Given the description of an element on the screen output the (x, y) to click on. 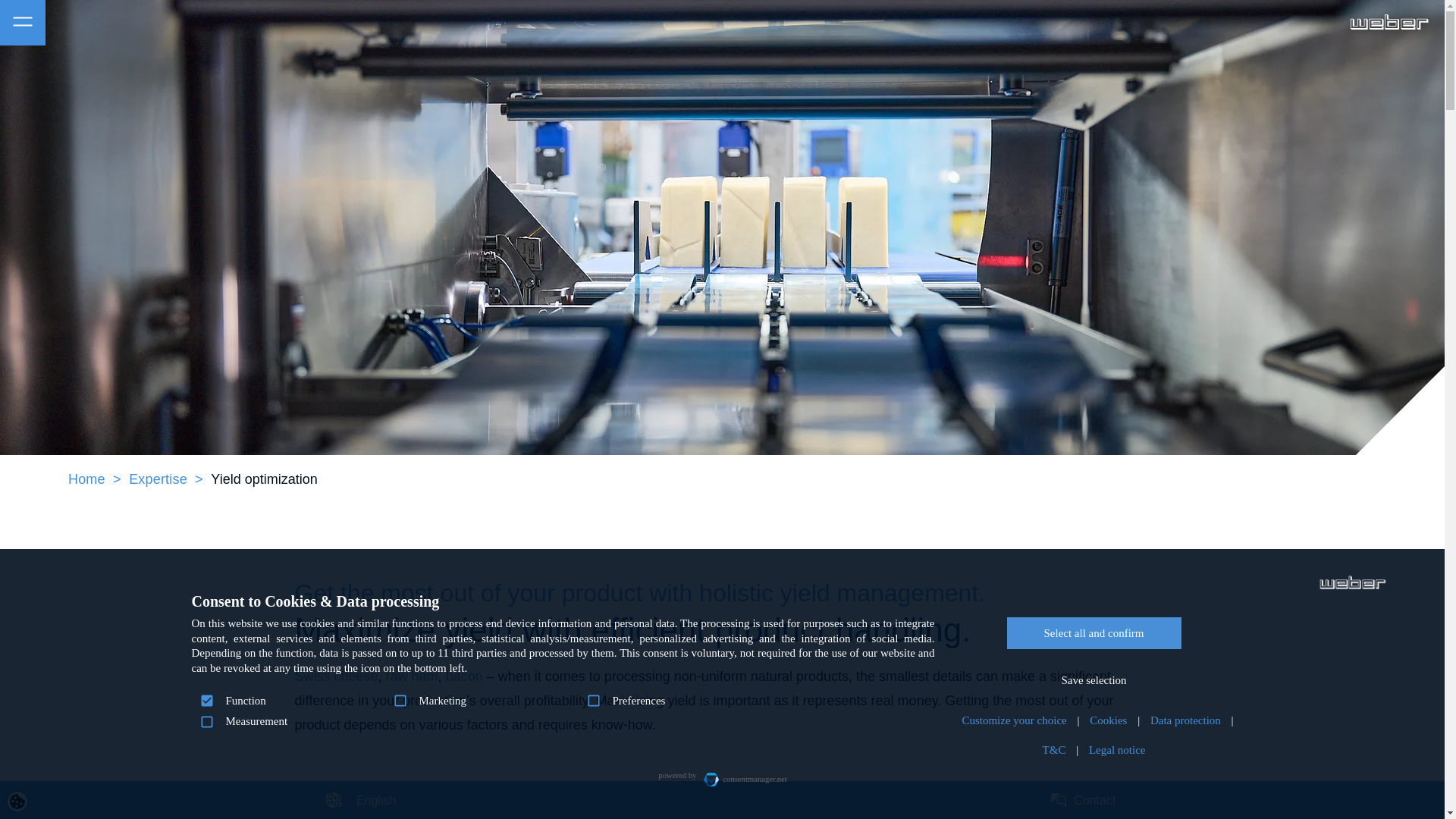
Save selection (1093, 680)
Legal notice (1117, 749)
Data protection (1185, 720)
Purpose (562, 711)
consentmanager.net (740, 775)
Select all and confirm (1093, 633)
Cookies (1107, 720)
Customize your choice (1013, 720)
11 third parties (472, 653)
